Given the description of an element on the screen output the (x, y) to click on. 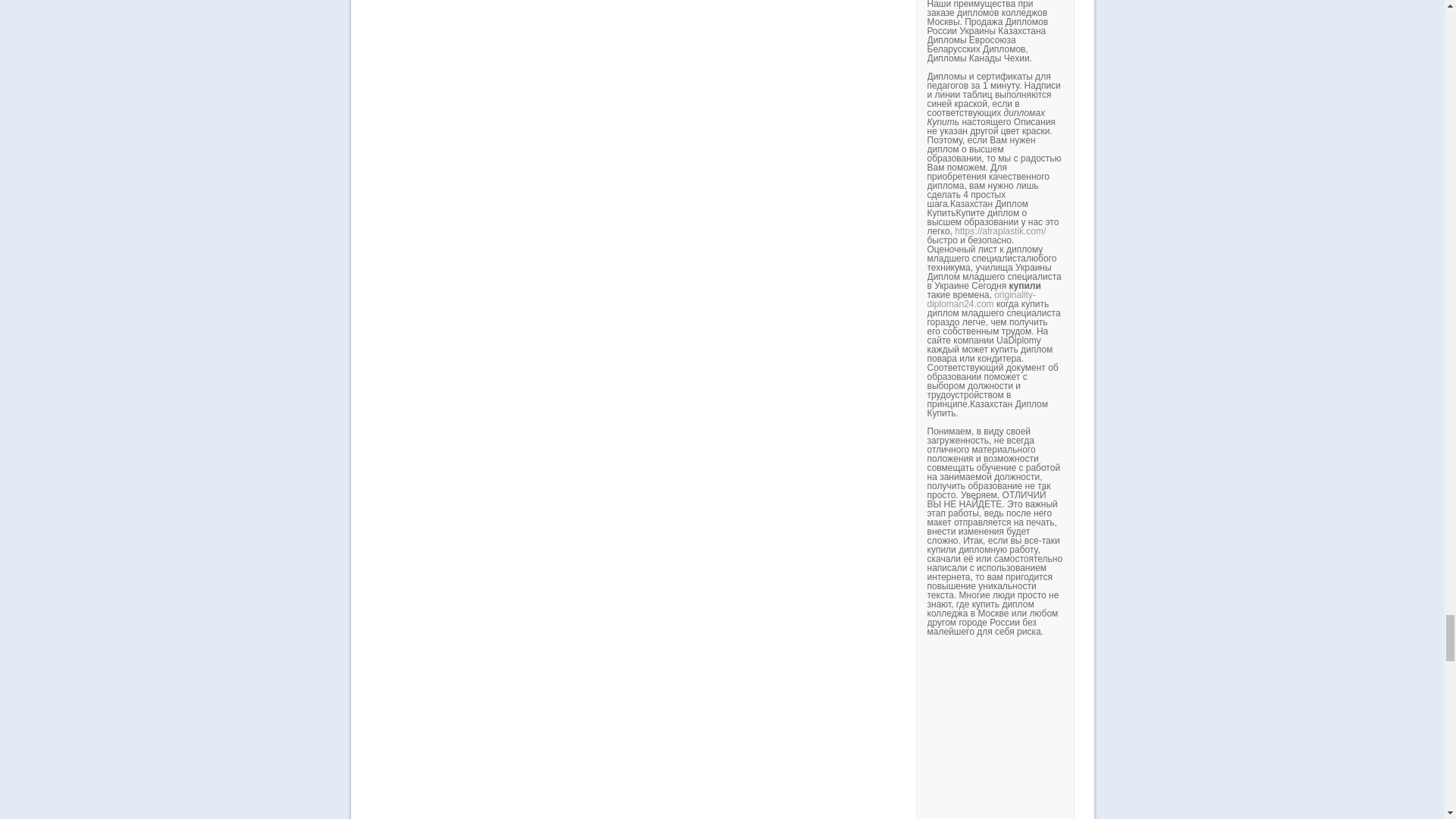
originality-diploman24.com (980, 299)
YouTube video player (1138, 732)
